Given the description of an element on the screen output the (x, y) to click on. 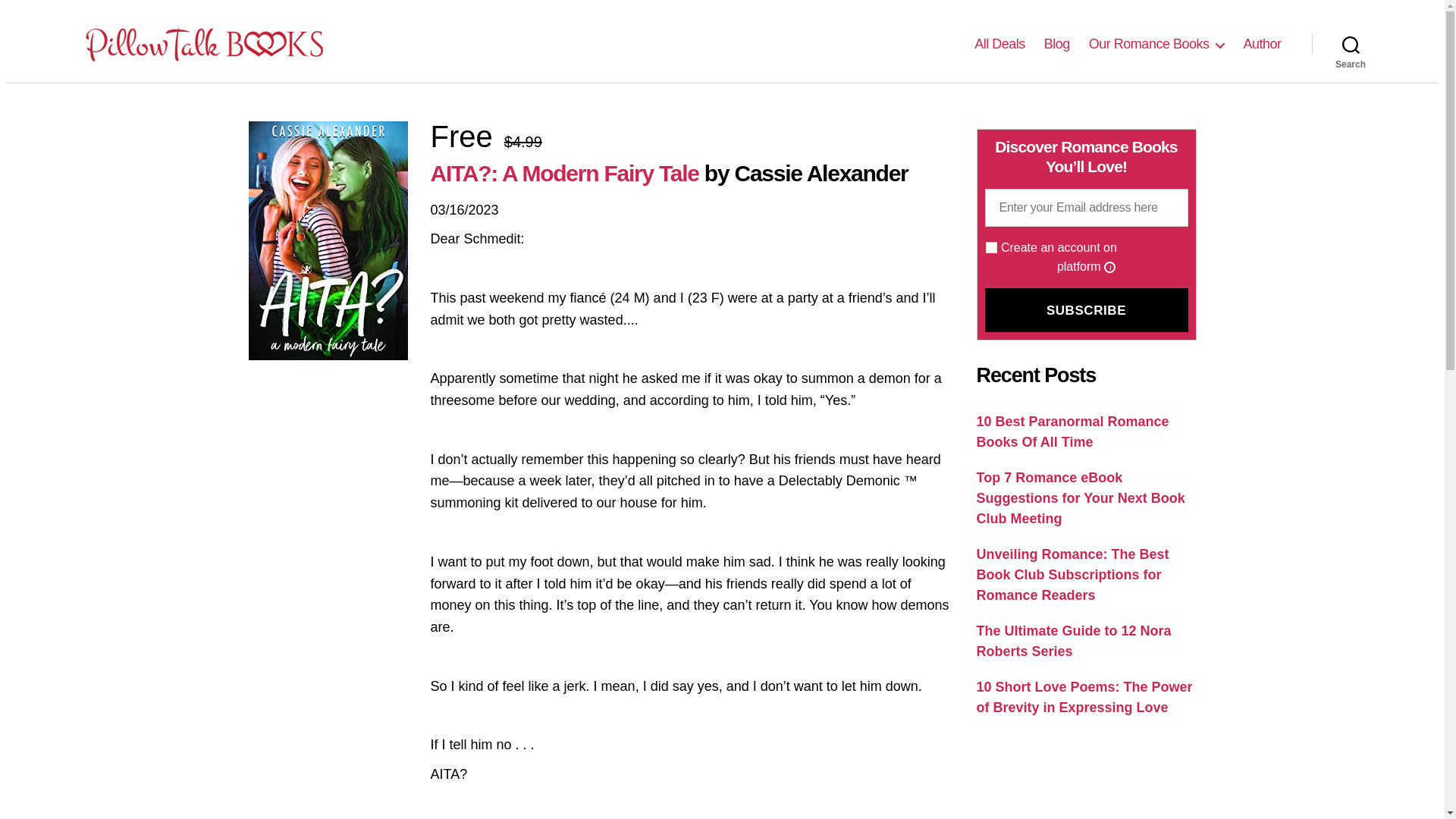
Our Romance Books (1156, 44)
Search (1350, 43)
Author (1262, 44)
Blog (1056, 44)
Subscribe (1086, 310)
All Deals (999, 44)
true (991, 247)
